Given the description of an element on the screen output the (x, y) to click on. 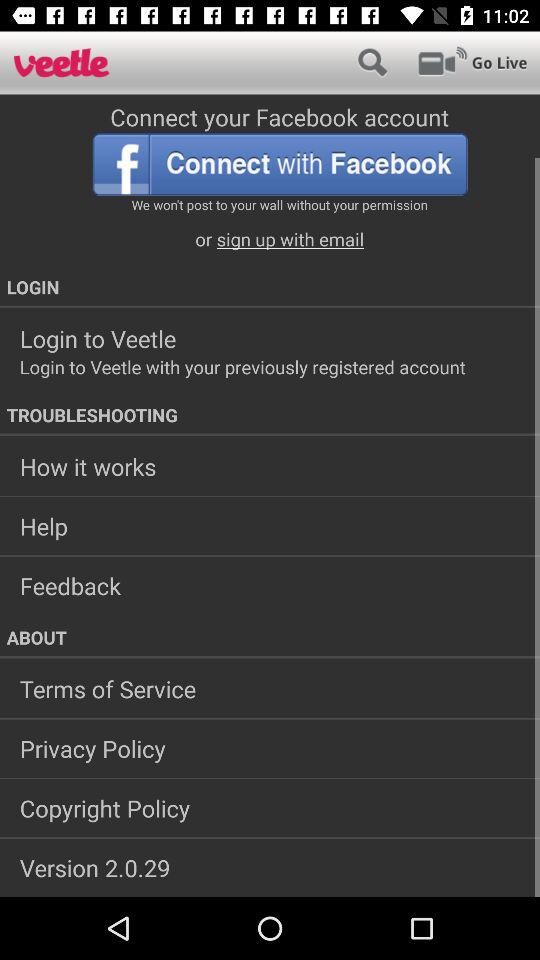
scroll until copyright policy app (270, 808)
